Given the description of an element on the screen output the (x, y) to click on. 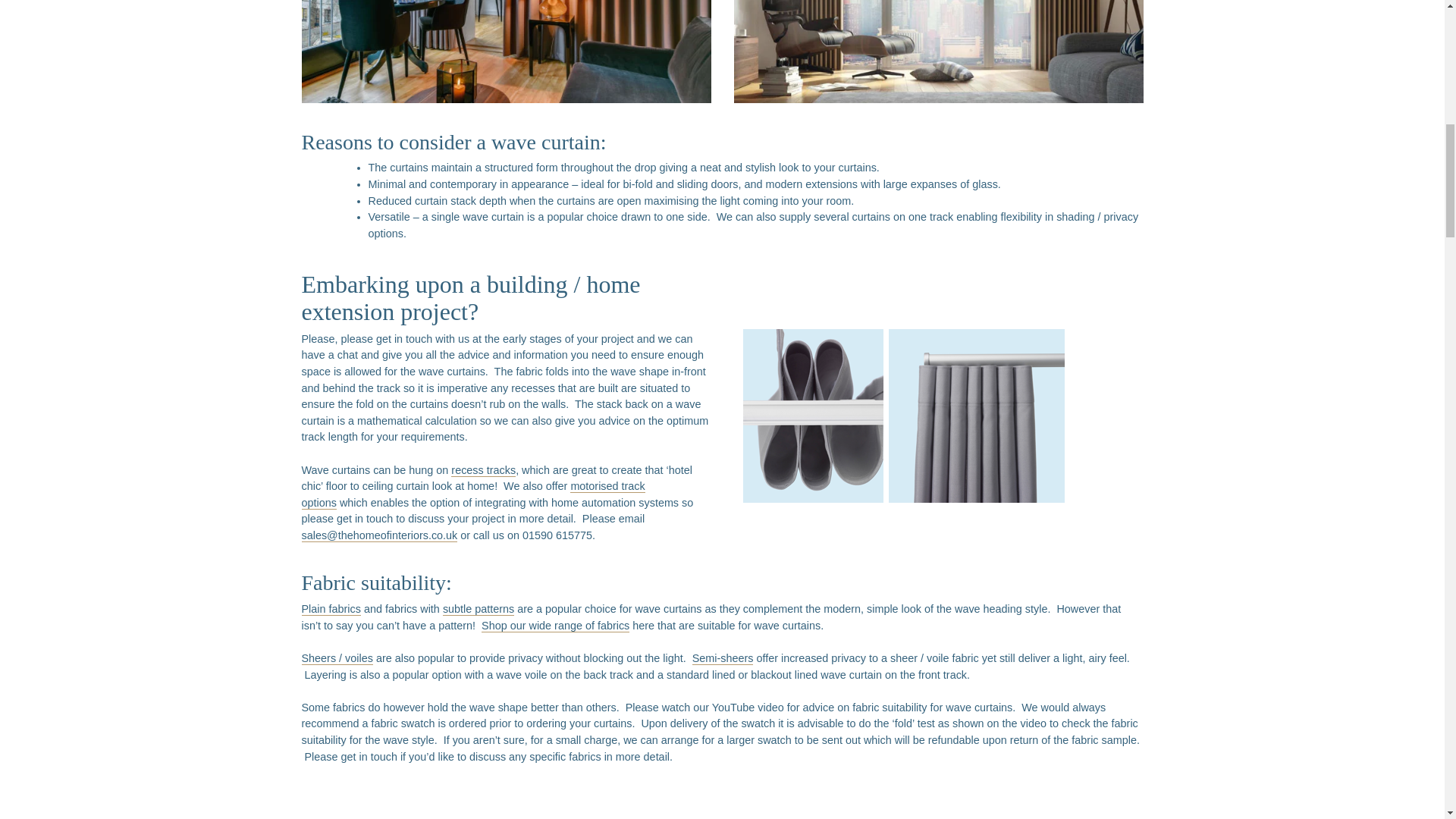
Fabric suitability for wave curtains (544, 800)
